Given the description of an element on the screen output the (x, y) to click on. 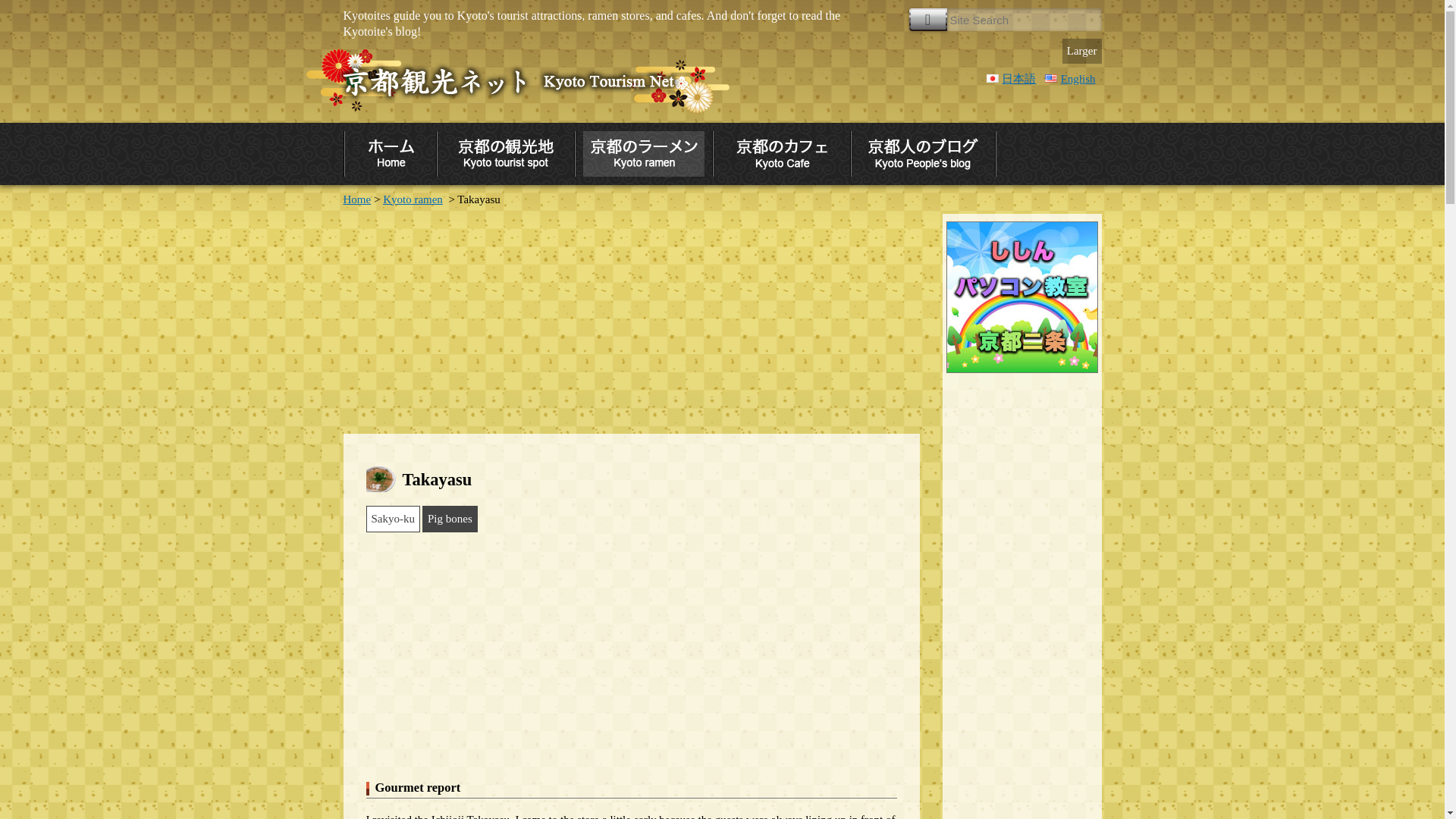
Advertisement (630, 653)
Kyoto ramen (412, 199)
Home (356, 199)
Advertisement (630, 319)
English (1069, 78)
Larger (1082, 50)
Pig bones (449, 519)
Sakyo-ku (392, 519)
